Given the description of an element on the screen output the (x, y) to click on. 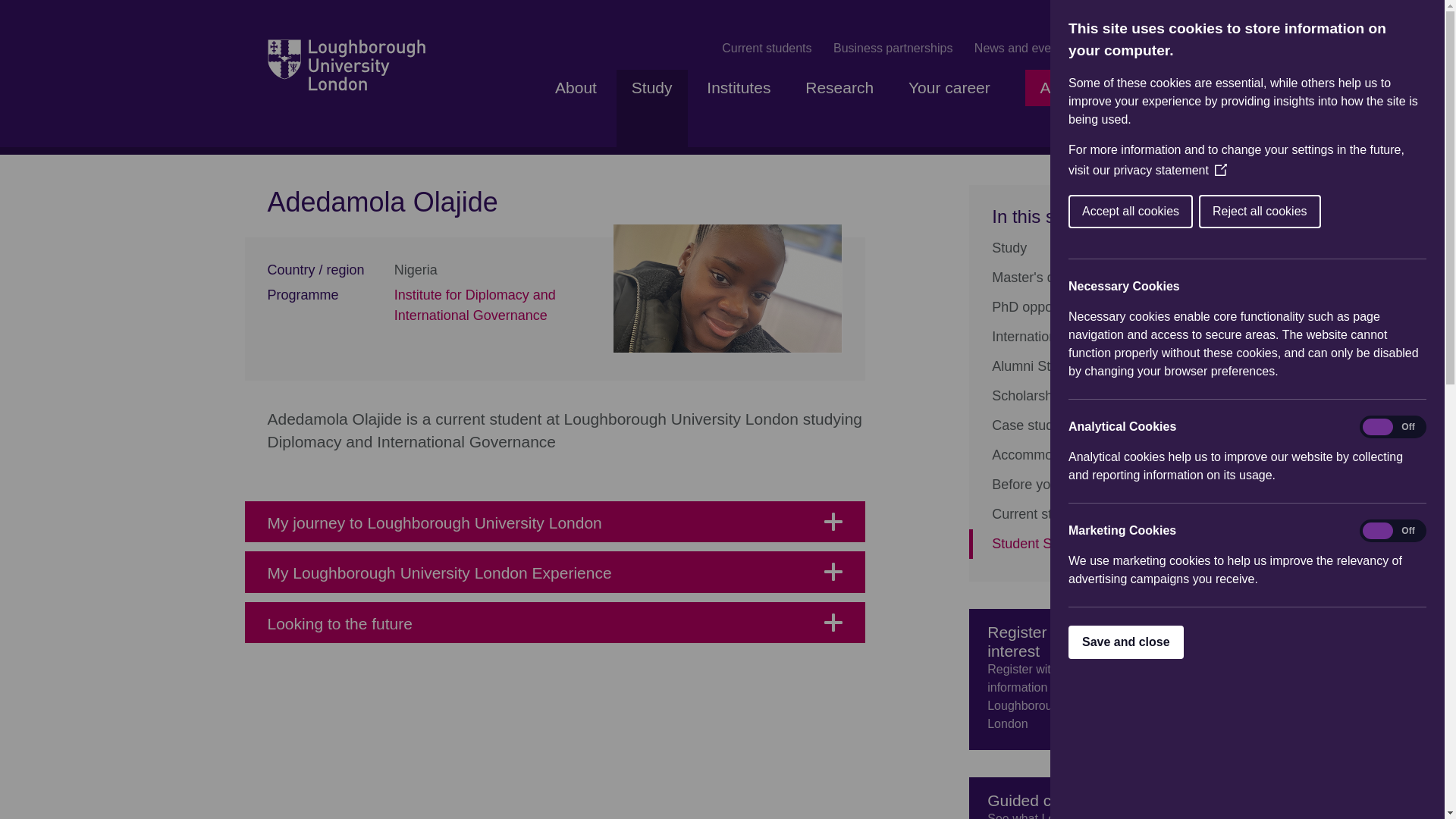
International (1074, 336)
Looking to the future (554, 621)
Current students (766, 48)
Current students (1074, 513)
Institute for Diplomacy and International Governance (475, 304)
Institutes (738, 111)
My Loughborough University London Experience (554, 571)
Before you arrive (1074, 484)
Case studies (1074, 425)
Business partnerships (892, 48)
